Given the description of an element on the screen output the (x, y) to click on. 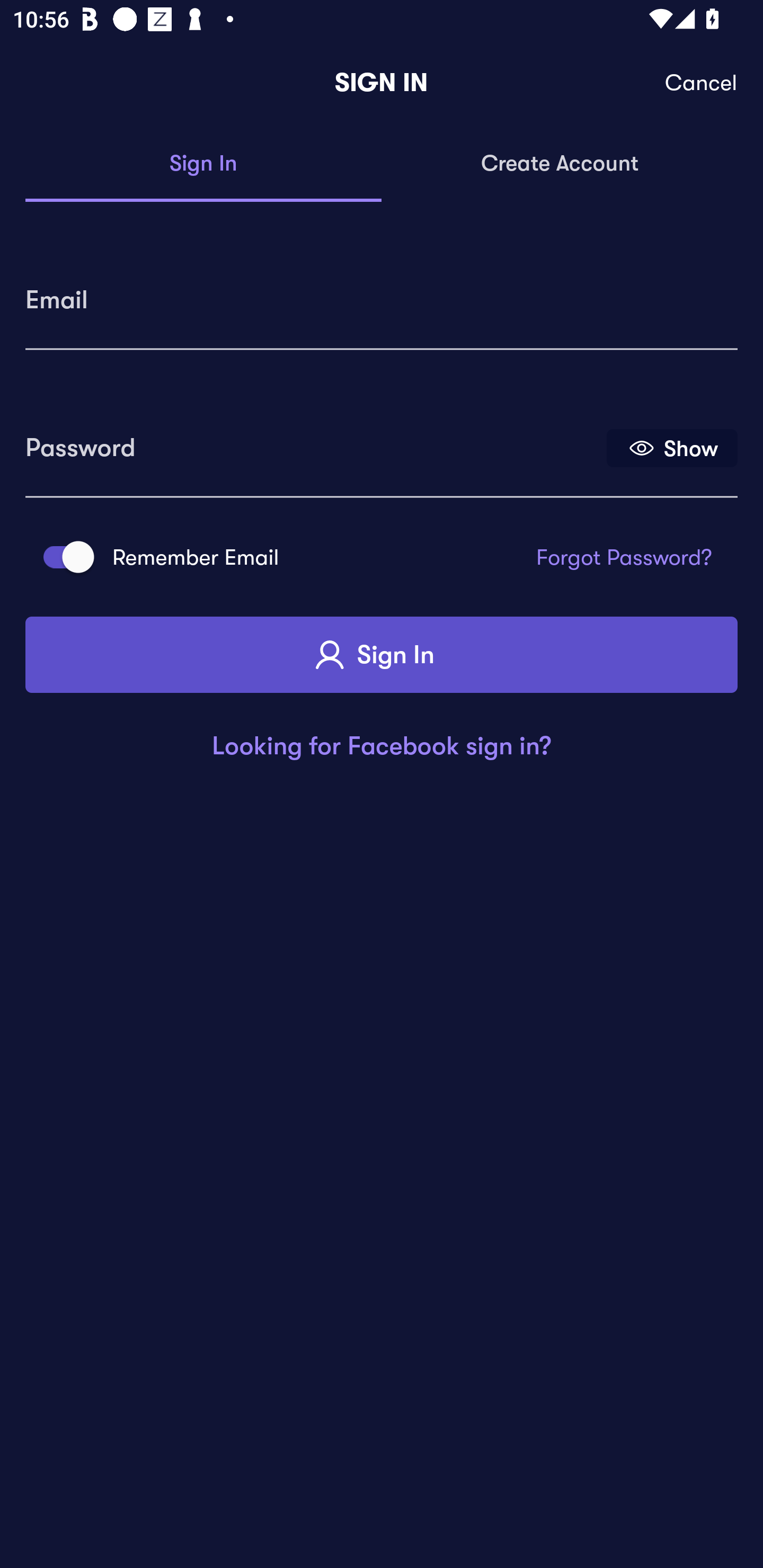
Cancel (701, 82)
Sign In (203, 164)
Create Account (559, 164)
Email (381, 293)
Password (314, 441)
Show Password Show (671, 447)
Remember Email (62, 557)
Sign In (381, 654)
